Given the description of an element on the screen output the (x, y) to click on. 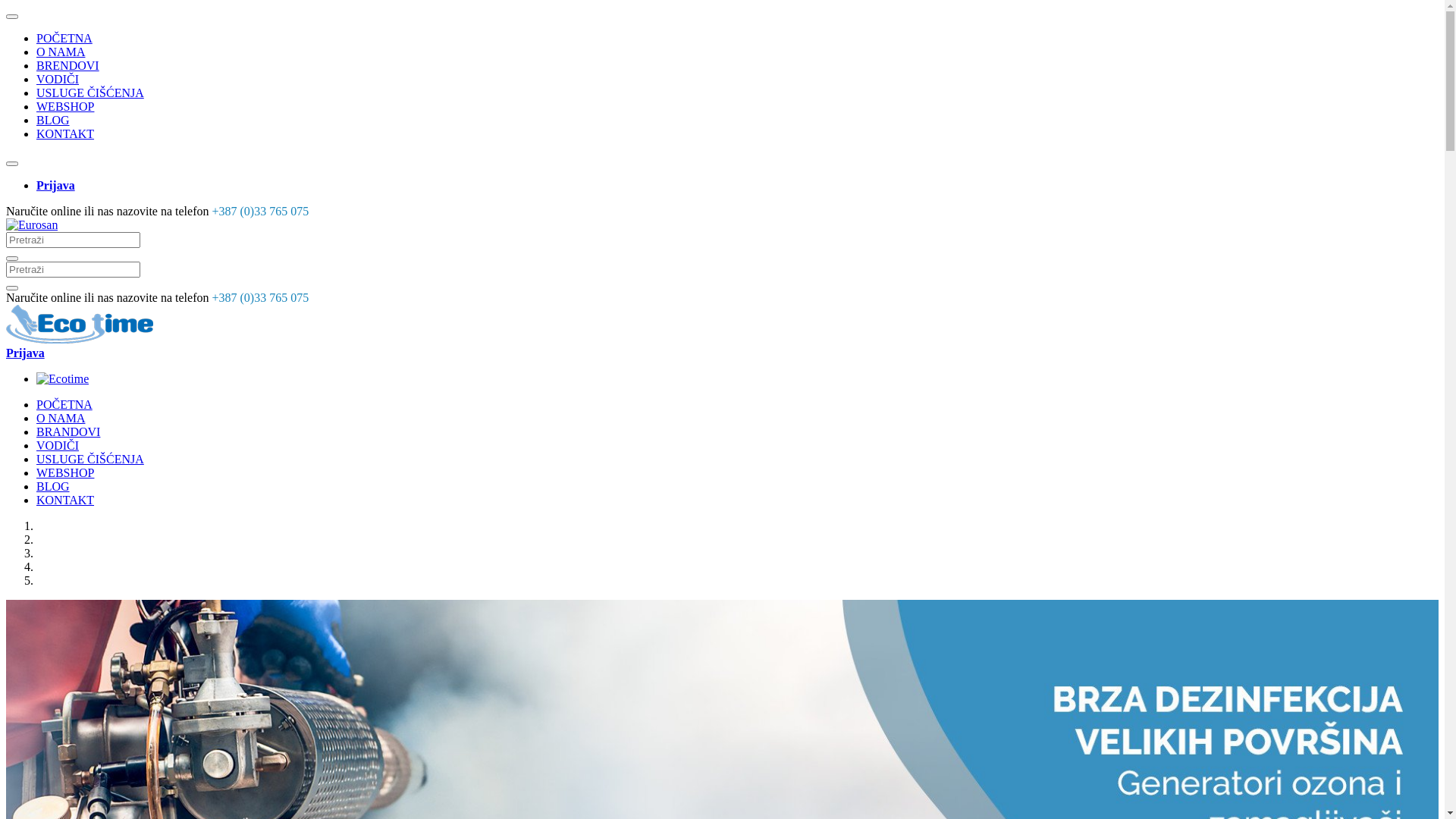
BRENDOVI Element type: text (67, 65)
WEBSHOP Element type: text (65, 472)
KONTAKT Element type: text (65, 499)
BLOG Element type: text (52, 119)
BRANDOVI Element type: text (68, 431)
O NAMA Element type: text (60, 51)
KONTAKT Element type: text (65, 133)
WEBSHOP Element type: text (65, 106)
Prijava Element type: text (55, 184)
Prijava Element type: text (25, 352)
O NAMA Element type: text (60, 417)
BLOG Element type: text (52, 486)
